Given the description of an element on the screen output the (x, y) to click on. 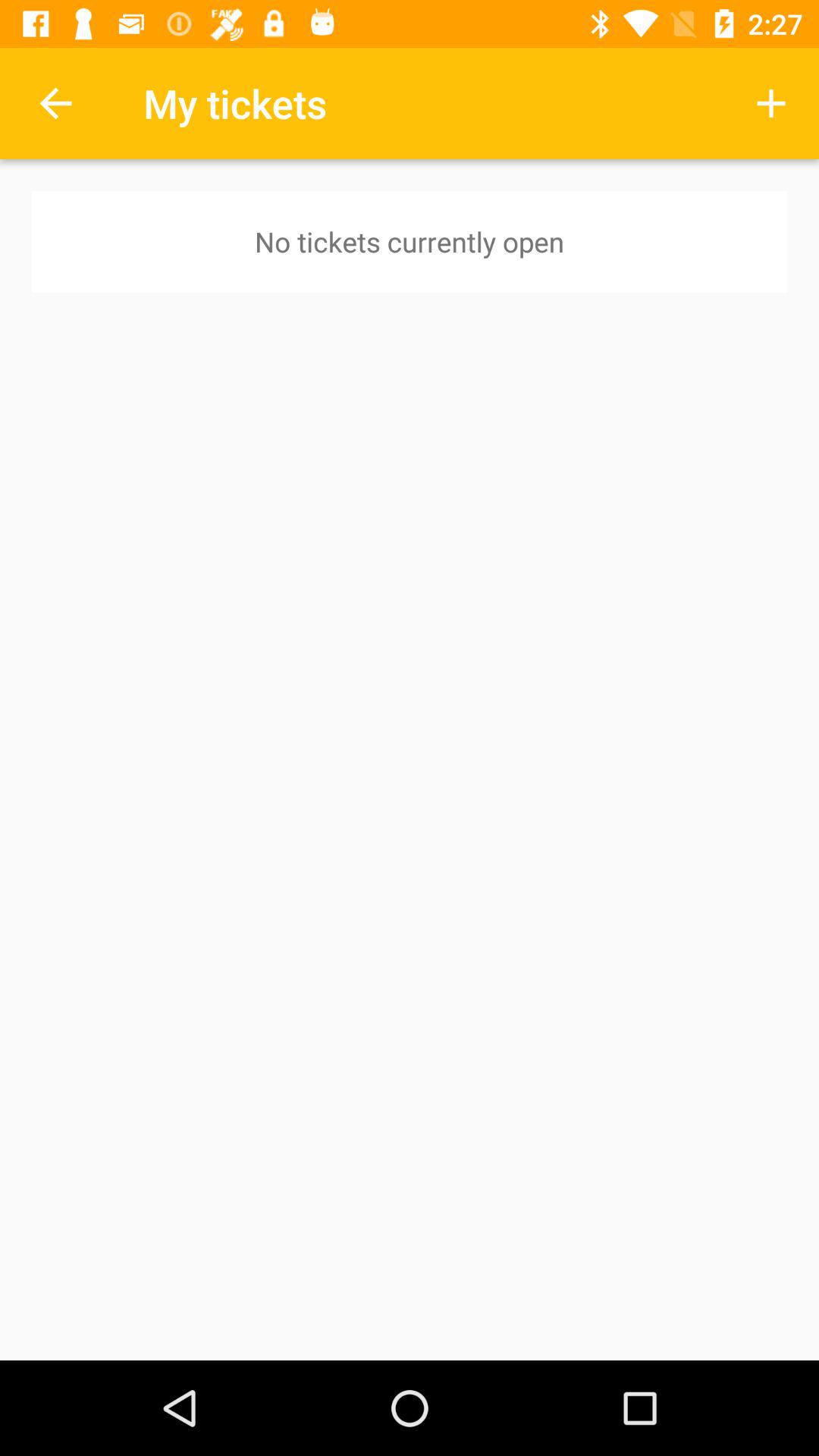
click the item at the top right corner (771, 103)
